Given the description of an element on the screen output the (x, y) to click on. 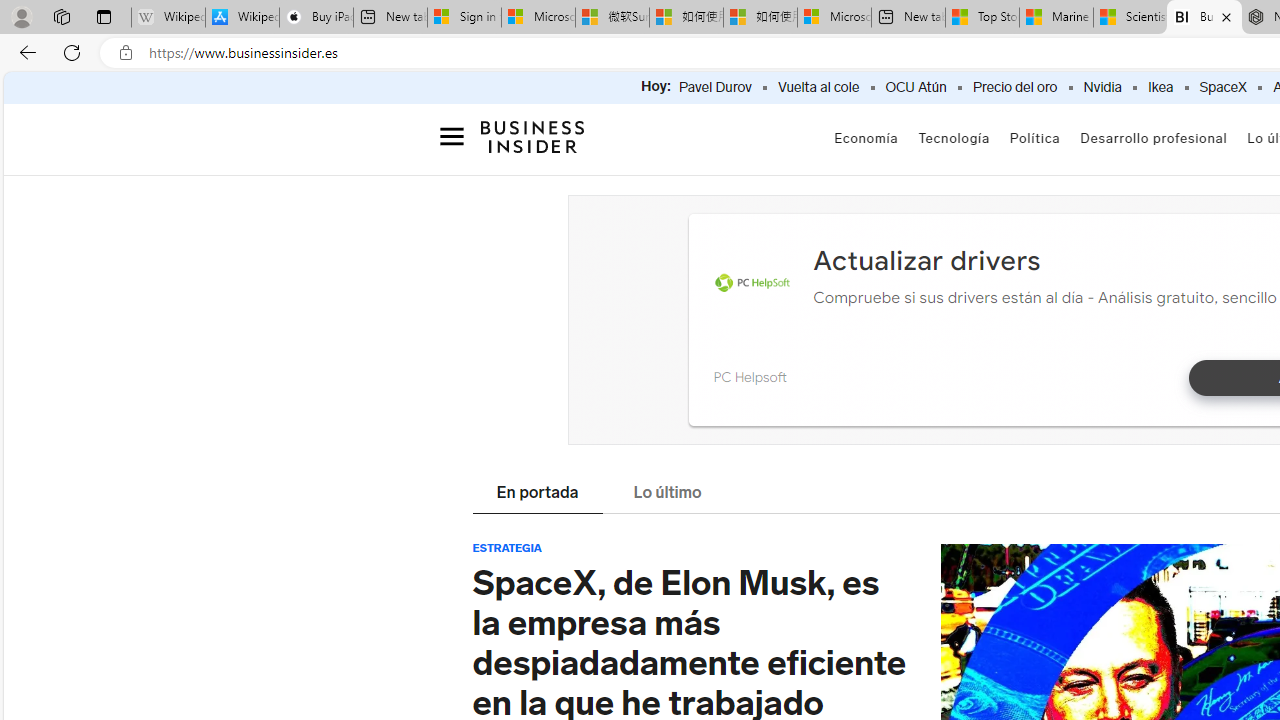
Logo BusinessInsider.es (532, 136)
Precio del oro (1014, 88)
PC Helpsoft (752, 283)
Pavel Durov (714, 88)
